Given the description of an element on the screen output the (x, y) to click on. 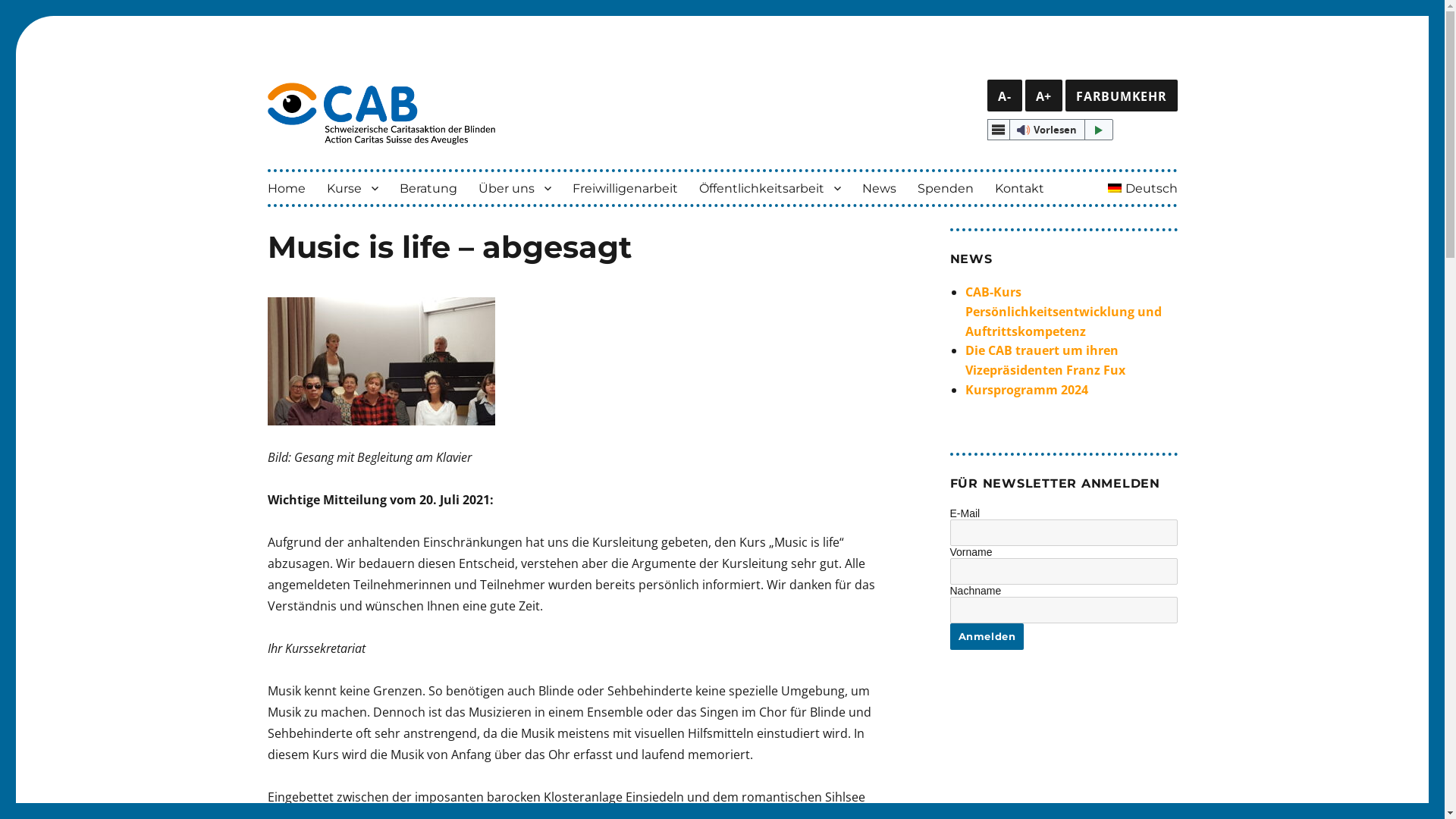
FARBUMKEHR Element type: text (1121, 95)
Anmelden Element type: text (986, 636)
Kursprogramm 2024 Element type: text (1025, 389)
Vorlesen Element type: text (1050, 129)
A+ Element type: text (1044, 95)
Kurse Element type: text (351, 187)
Beratung Element type: text (427, 187)
Freiwilligenarbeit Element type: text (624, 187)
News Element type: text (878, 187)
Home Element type: text (285, 187)
Deutsch Element type: text (1142, 187)
Spenden Element type: text (945, 187)
Kontakt Element type: text (1019, 187)
A- Element type: text (1004, 95)
